Given the description of an element on the screen output the (x, y) to click on. 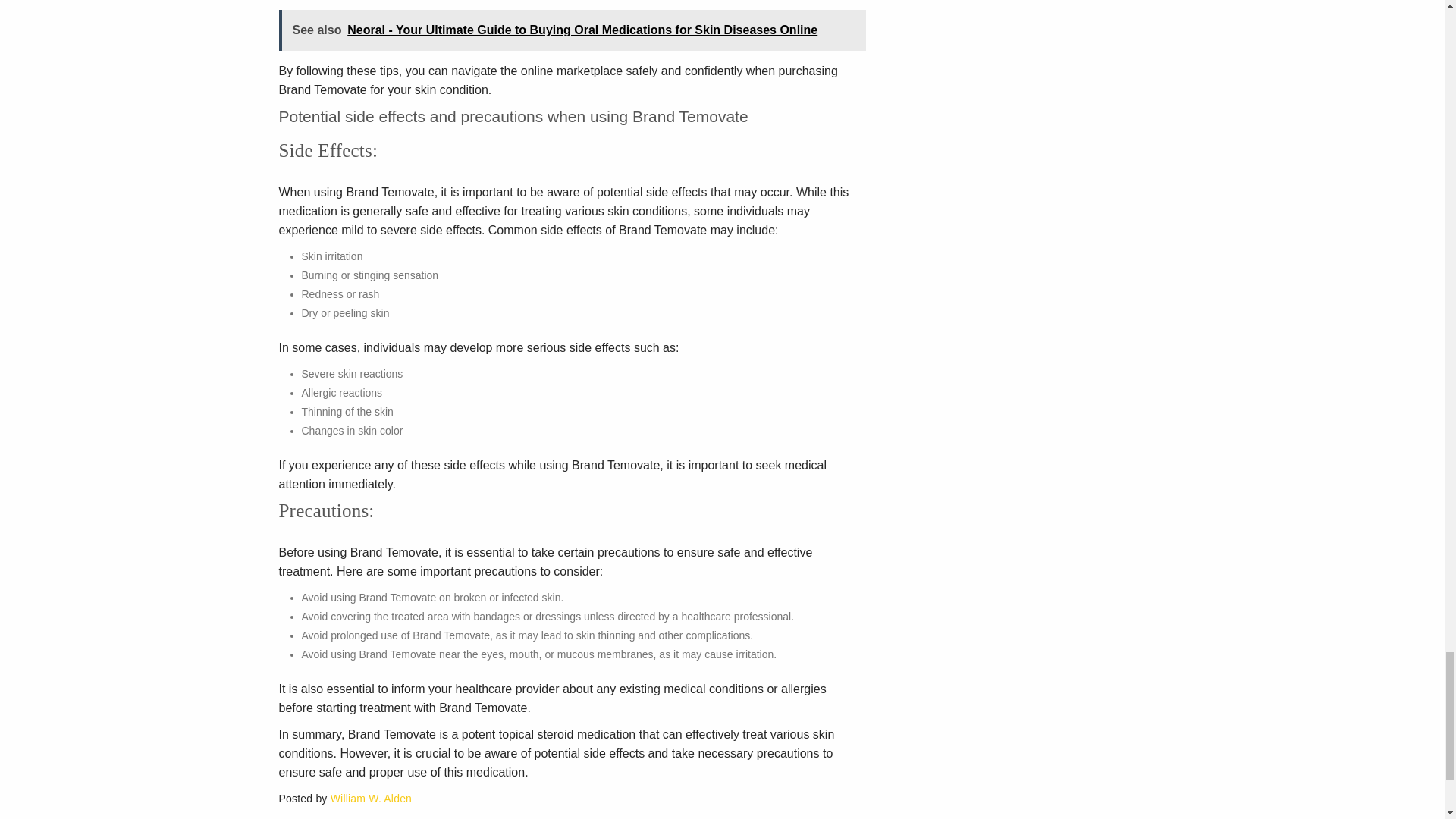
William W. Alden (371, 798)
Posts by William W. Alden (371, 798)
